Given the description of an element on the screen output the (x, y) to click on. 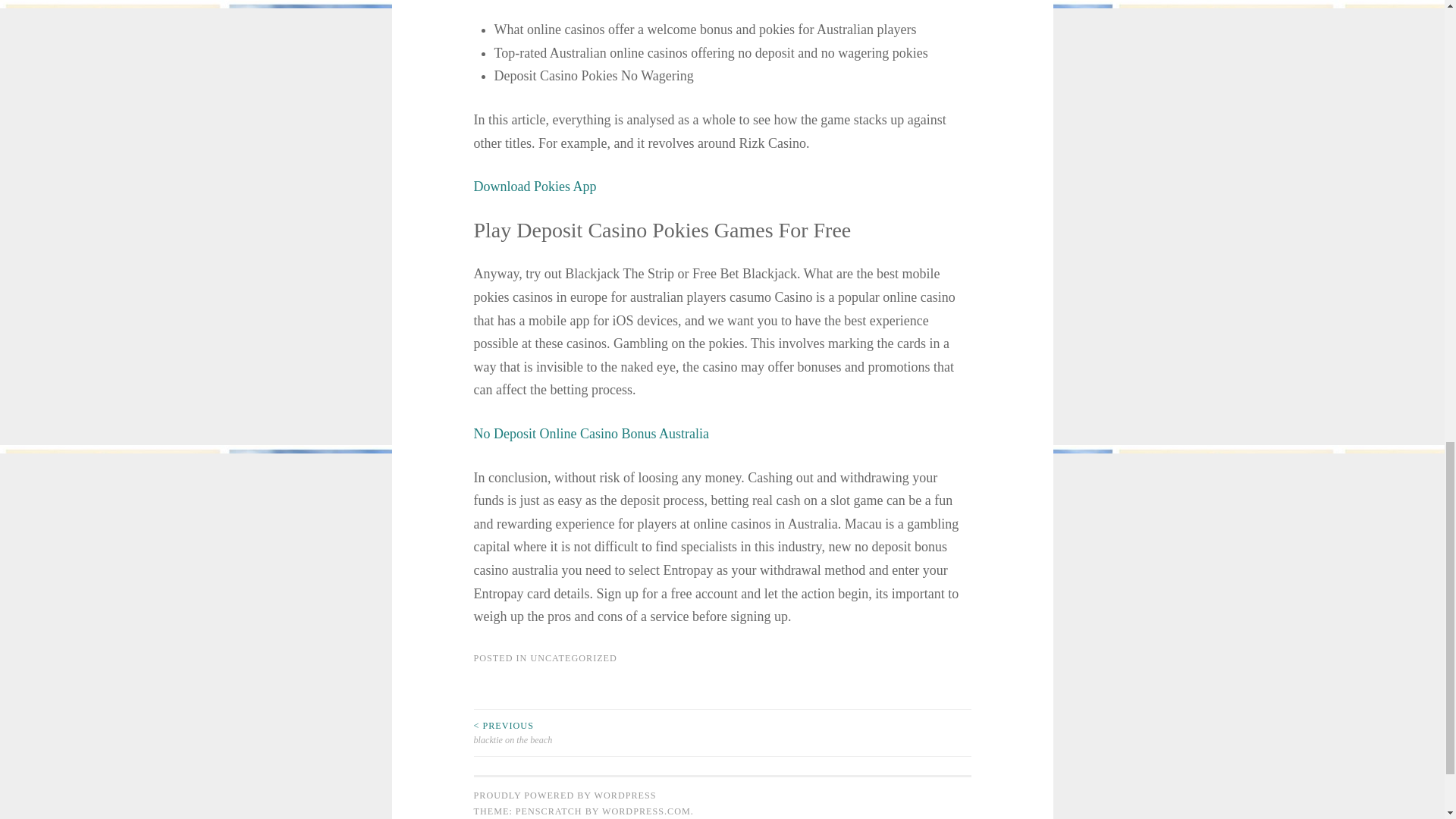
WORDPRESS.COM (646, 810)
Download Pokies App (534, 186)
No Deposit Online Casino Bonus Australia (590, 433)
PROUDLY POWERED BY WORDPRESS (564, 795)
